Given the description of an element on the screen output the (x, y) to click on. 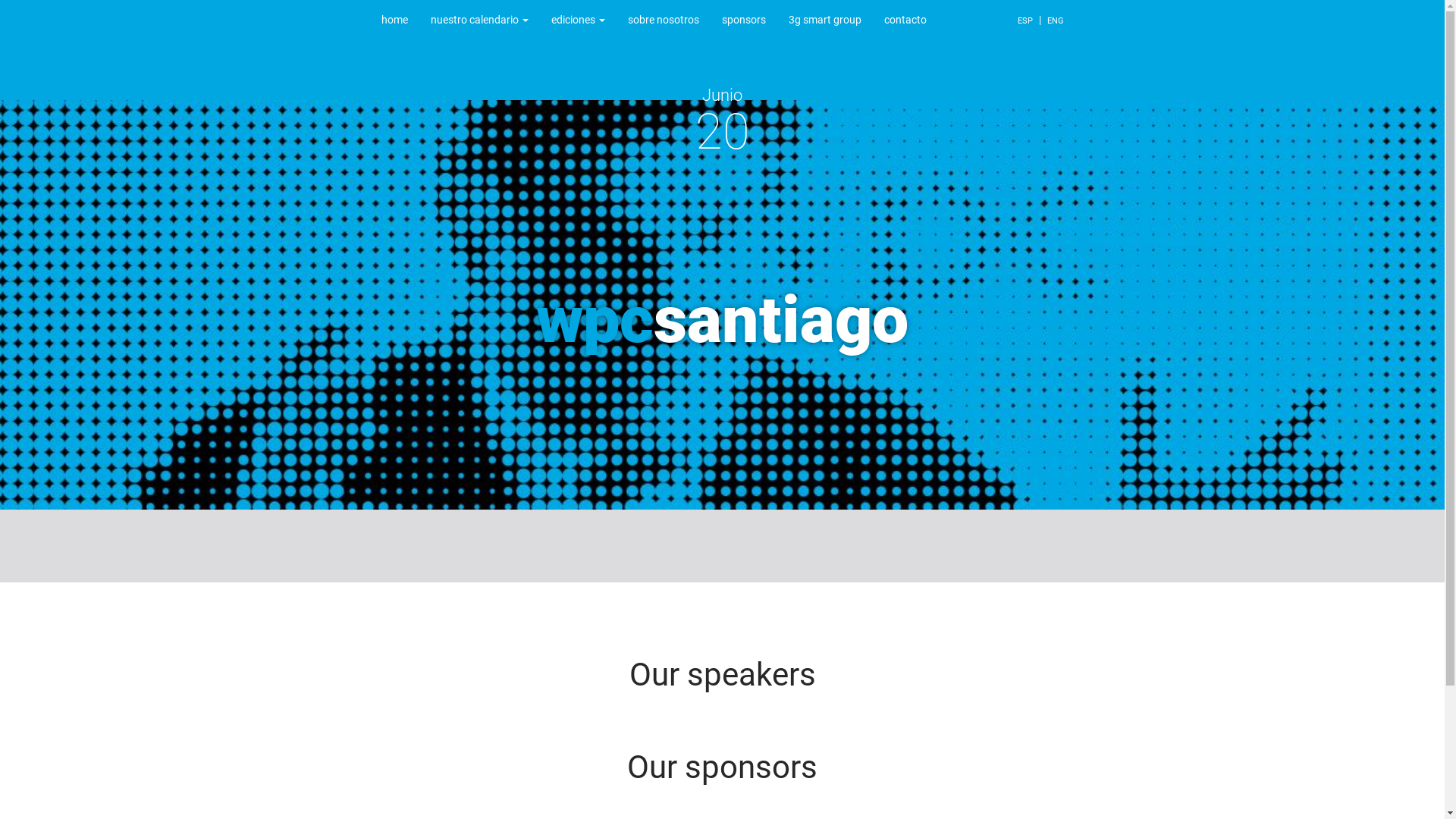
nuestro calendario Element type: text (478, 19)
sponsors Element type: text (742, 19)
3g smart group Element type: text (824, 19)
contacto Element type: text (904, 19)
ESP Element type: text (1024, 20)
ENG Element type: text (1055, 20)
sobre nosotros Element type: text (662, 19)
home Element type: text (394, 19)
ediciones Element type: text (577, 19)
